Given the description of an element on the screen output the (x, y) to click on. 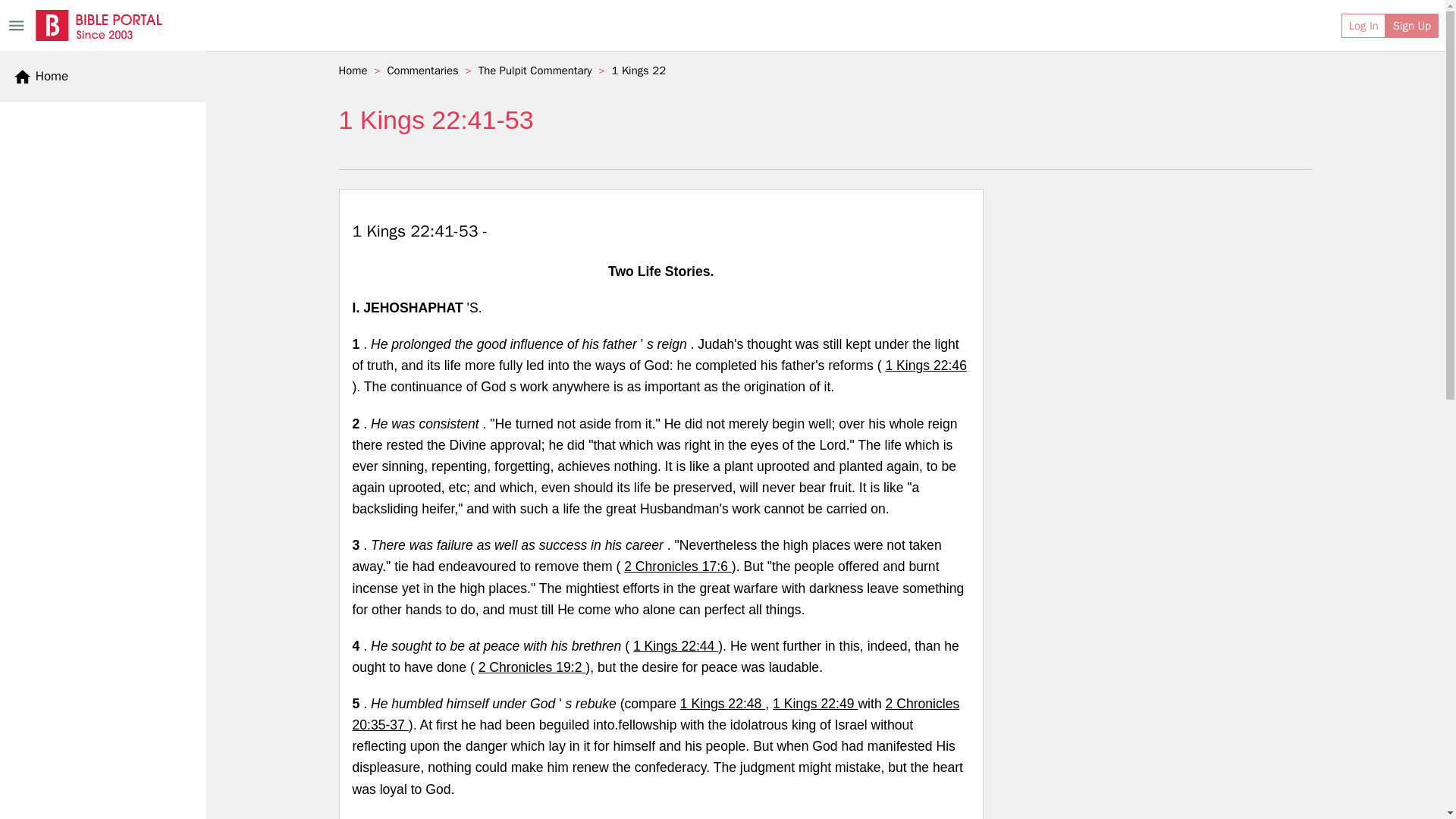
Sign Up (1412, 25)
Bible Passages -  1 Kings 22:44  - click to view detail (675, 645)
Home (40, 76)
Bible Passages -  2 Chronicles 17:6  - click to view detail (678, 566)
Bible Passages -  1 Kings 22:49  - click to view detail (815, 703)
Log In (1363, 25)
Bible Passages -  1 Kings 22:46  - click to view detail (925, 365)
Bible Passages -  2 Chronicles 19:2  - click to view detail (532, 667)
Bible Passages -  1 Kings 22:48  - click to view detail (722, 703)
